Given the description of an element on the screen output the (x, y) to click on. 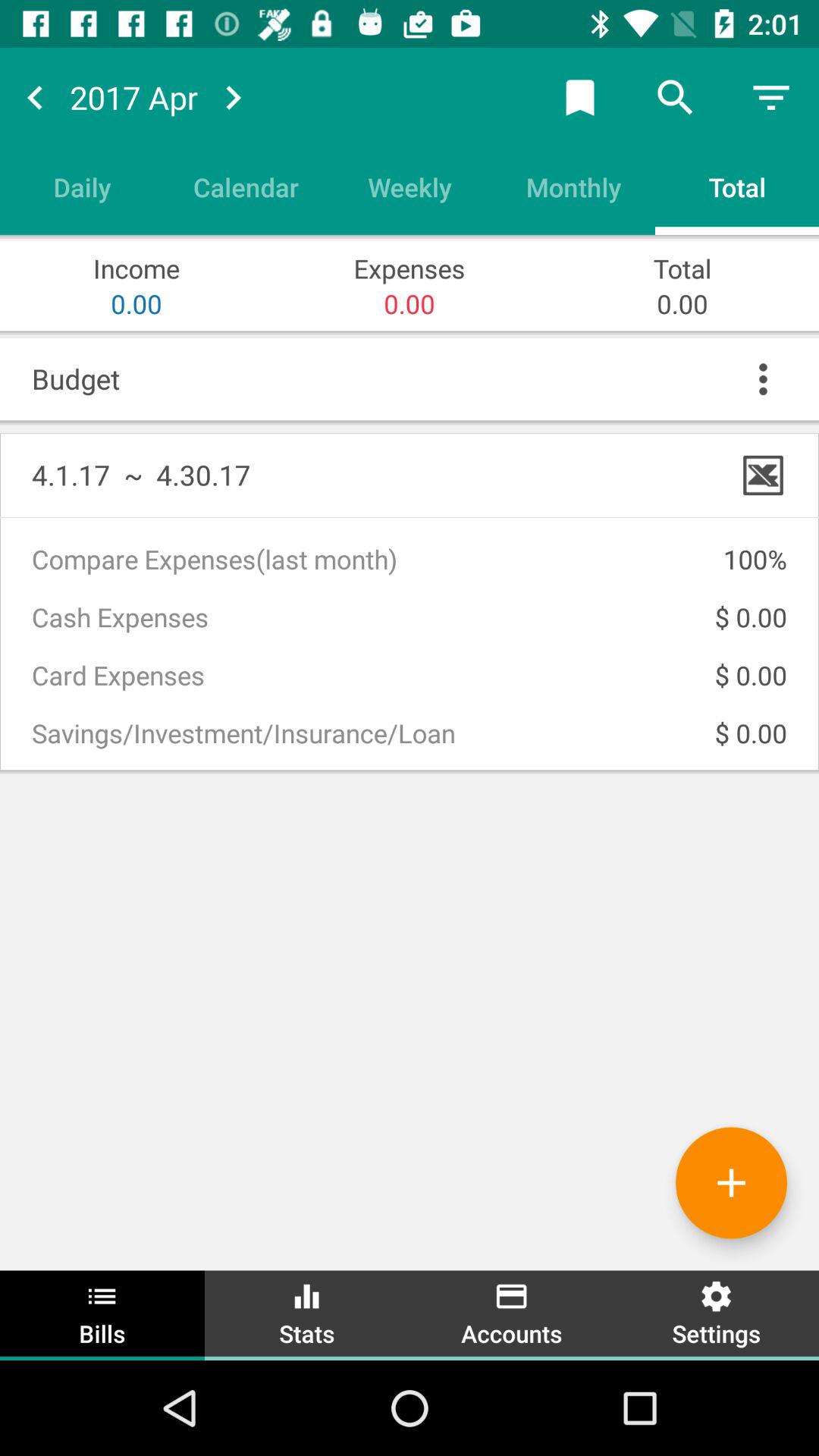
add more (731, 1182)
